Given the description of an element on the screen output the (x, y) to click on. 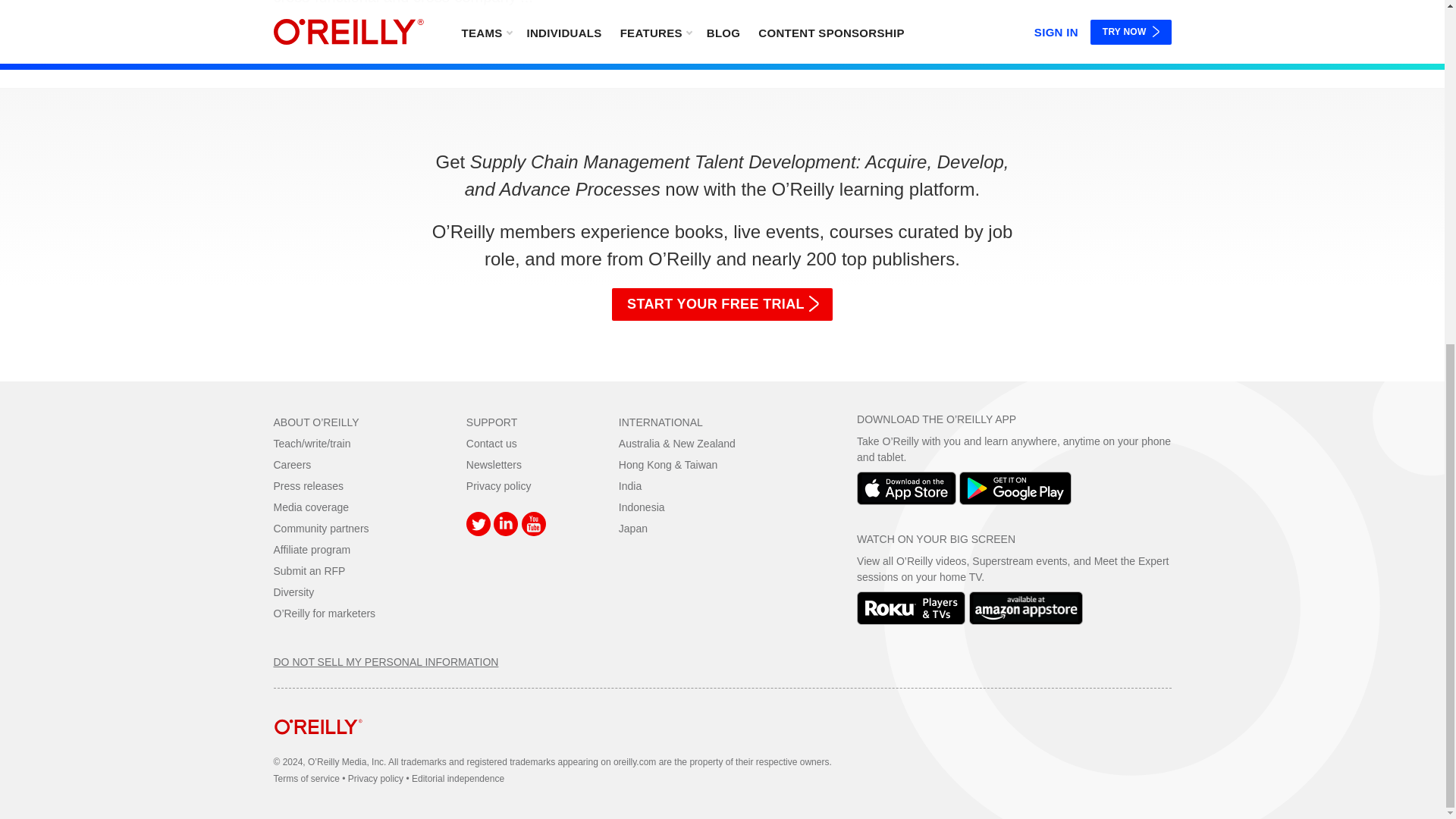
Newsletters (493, 464)
Submit an RFP (309, 571)
Affiliate program (311, 549)
Careers (292, 464)
SUPPORT (490, 422)
Community partners (320, 528)
Contact us (490, 443)
Privacy policy (498, 485)
Press releases (308, 485)
Media coverage (311, 507)
